Given the description of an element on the screen output the (x, y) to click on. 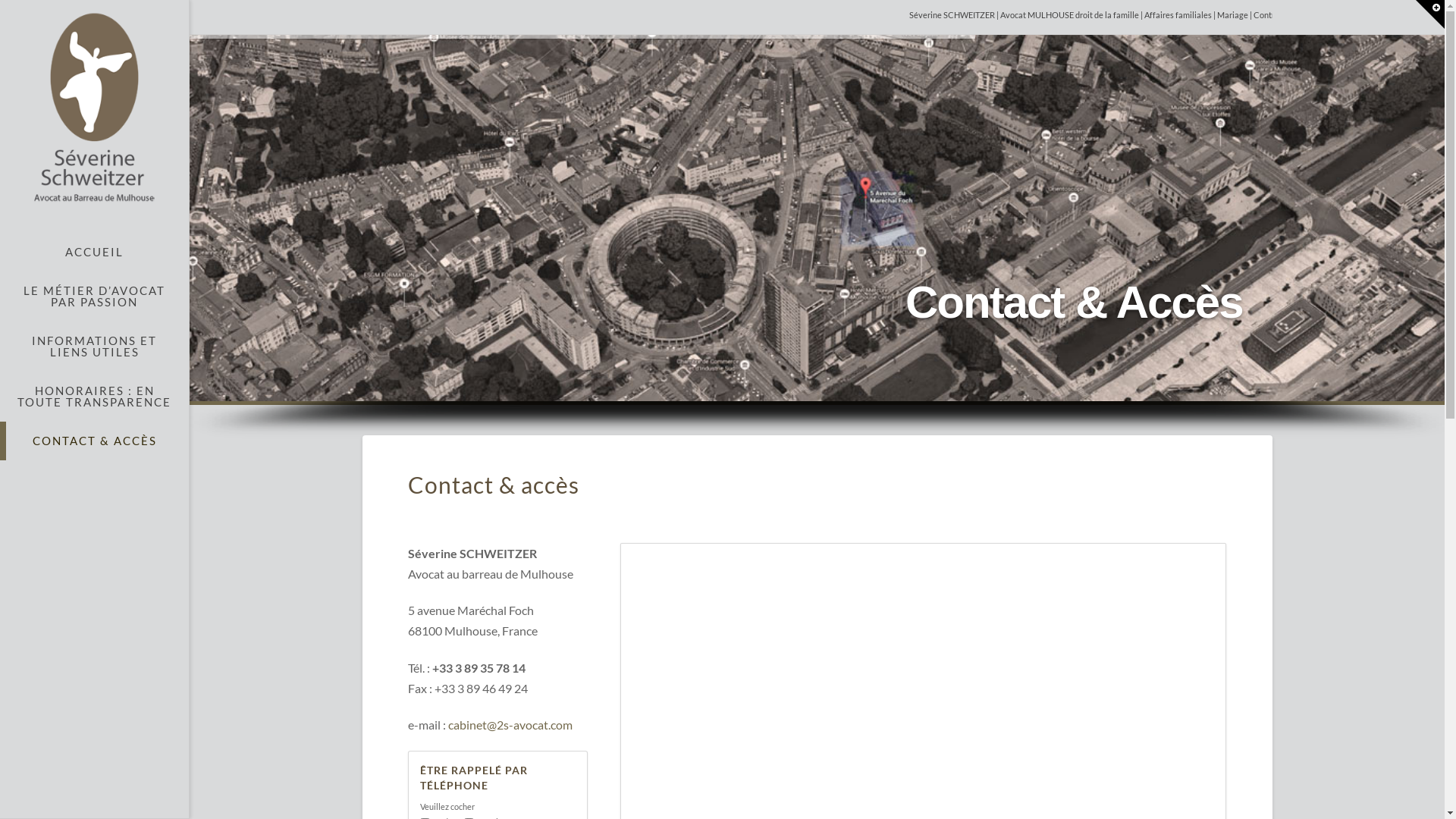
Envoyer Element type: text (1030, 233)
Toggle the Widgetbar Element type: text (1429, 14)
INFORMATIONS ET LIENS UTILES Element type: text (94, 346)
Envoyer Element type: text (712, 439)
cabinet@2s-avocat.com Element type: text (509, 724)
HONORAIRES : EN TOUTE TRANSPARENCE Element type: text (94, 396)
ACCUEIL Element type: text (94, 251)
